Given the description of an element on the screen output the (x, y) to click on. 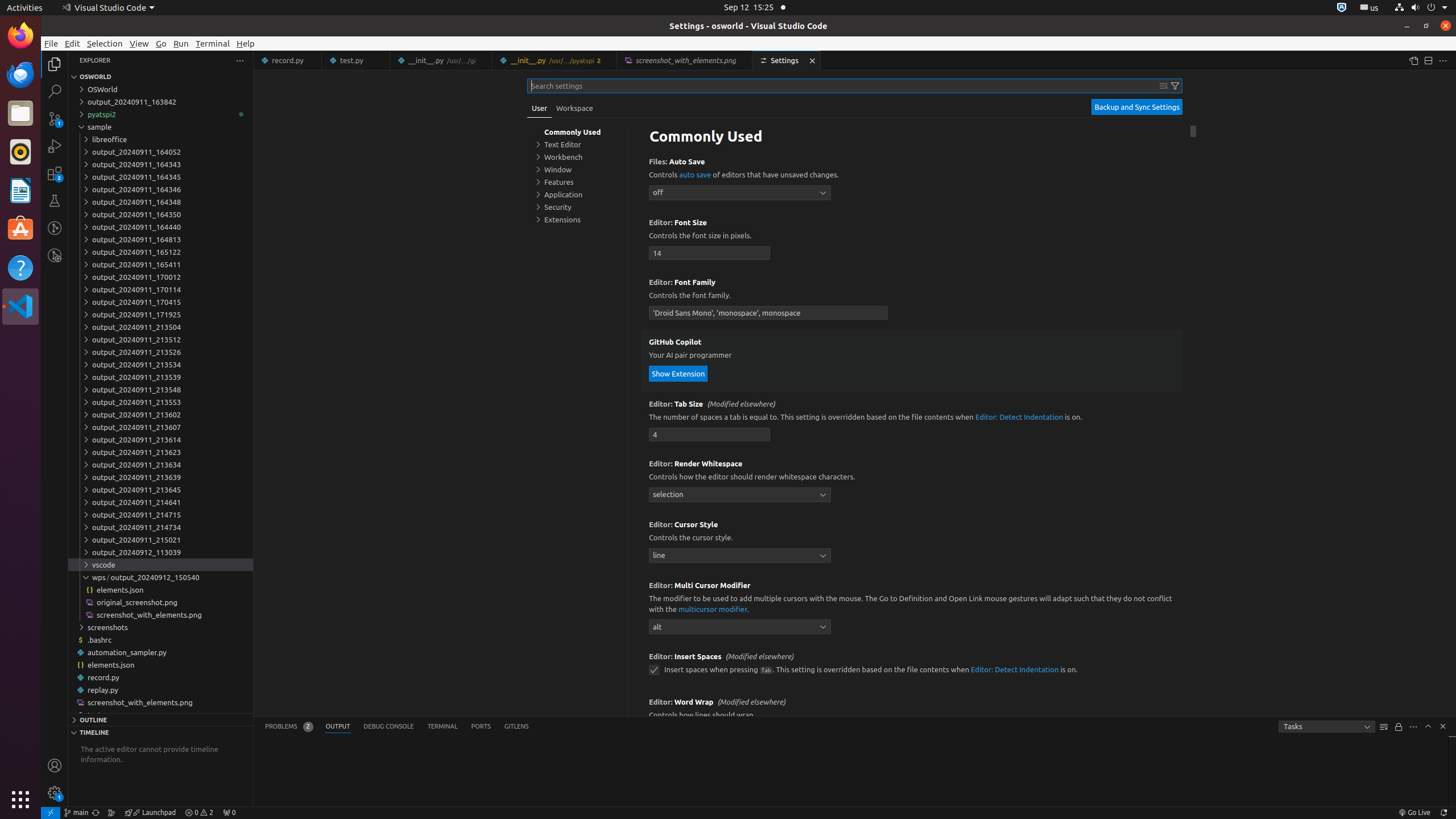
 GitHub Copilot. Your AI pair programmer  Element type: tree-item (911, 360)
Editor Tab Size. The number of spaces a tab is equal to. This setting is overridden based on the file contents when "Editor: Detect Indentation" is on.  Element type: tree-item (911, 421)
output_20240912_150540 Element type: tree-item (160, 577)
File Element type: push-button (50, 43)
Go Element type: push-button (161, 43)
